Given the description of an element on the screen output the (x, y) to click on. 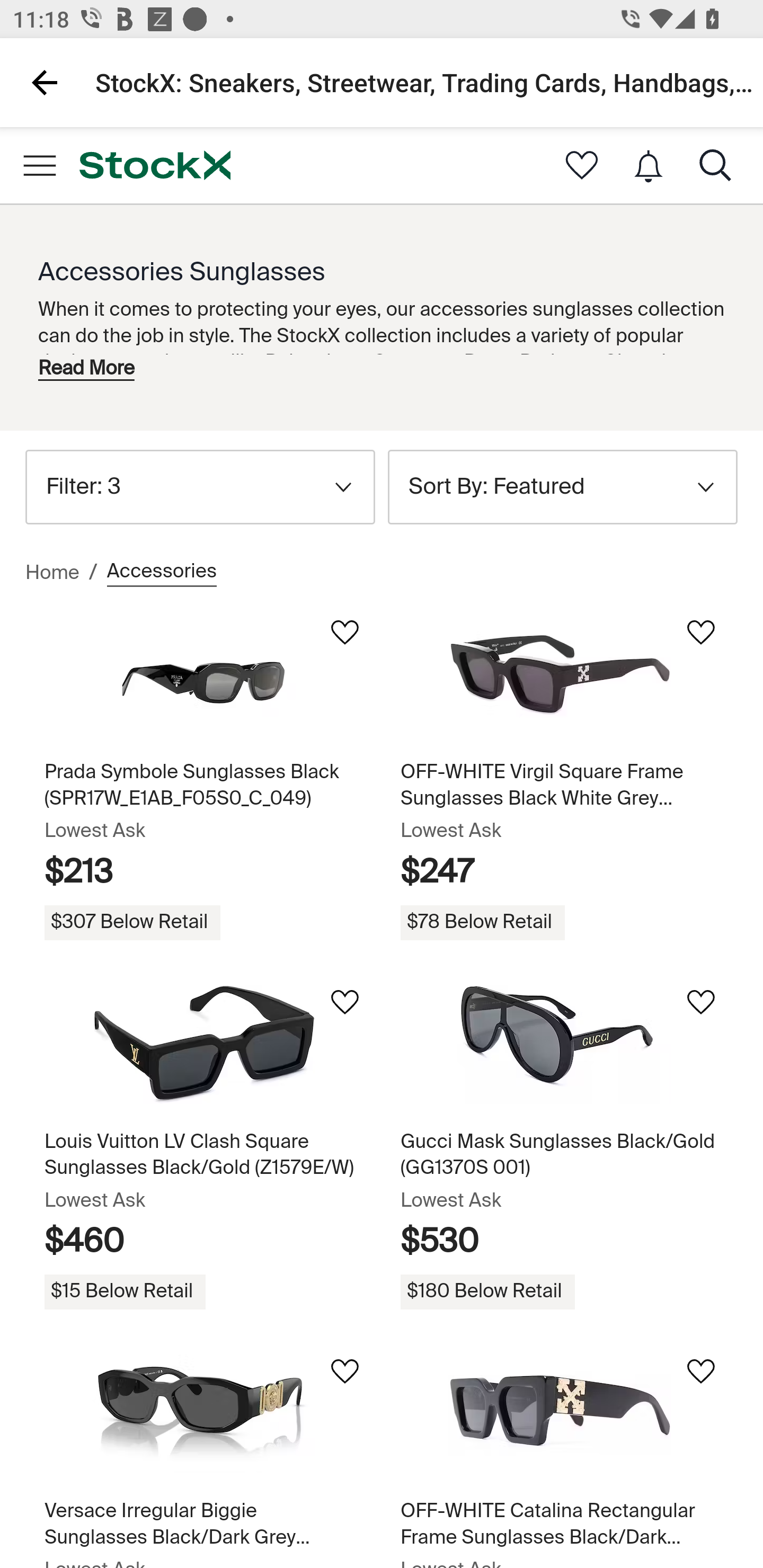
Navigate up (44, 82)
Toggle Navigation (39, 165)
StockX Logo (154, 165)
All Favorites (581, 165)
Notification Icon (648, 165)
Read More (86, 368)
Filter: 3 (200, 486)
Sort By: Featured (562, 486)
Home (52, 573)
Follow (344, 632)
Follow (700, 632)
Follow (344, 1001)
Follow (700, 1001)
Follow (344, 1371)
Follow (700, 1371)
